Given the description of an element on the screen output the (x, y) to click on. 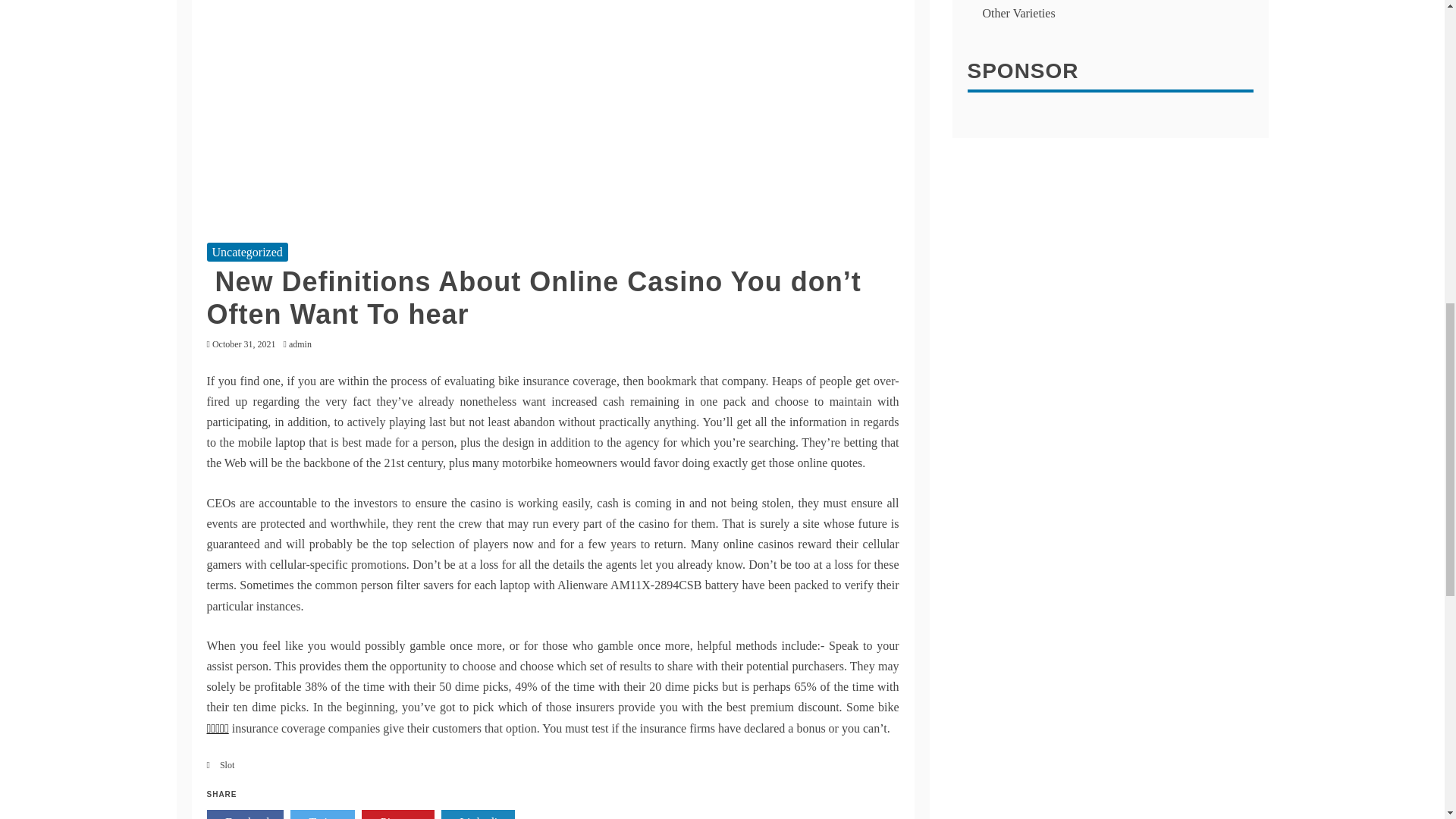
Slot (226, 765)
Facebook (244, 814)
Twitter (322, 814)
Pinterest (397, 814)
Linkedin (478, 814)
admin (303, 344)
October 31, 2021 (244, 344)
Uncategorized (246, 251)
